Given the description of an element on the screen output the (x, y) to click on. 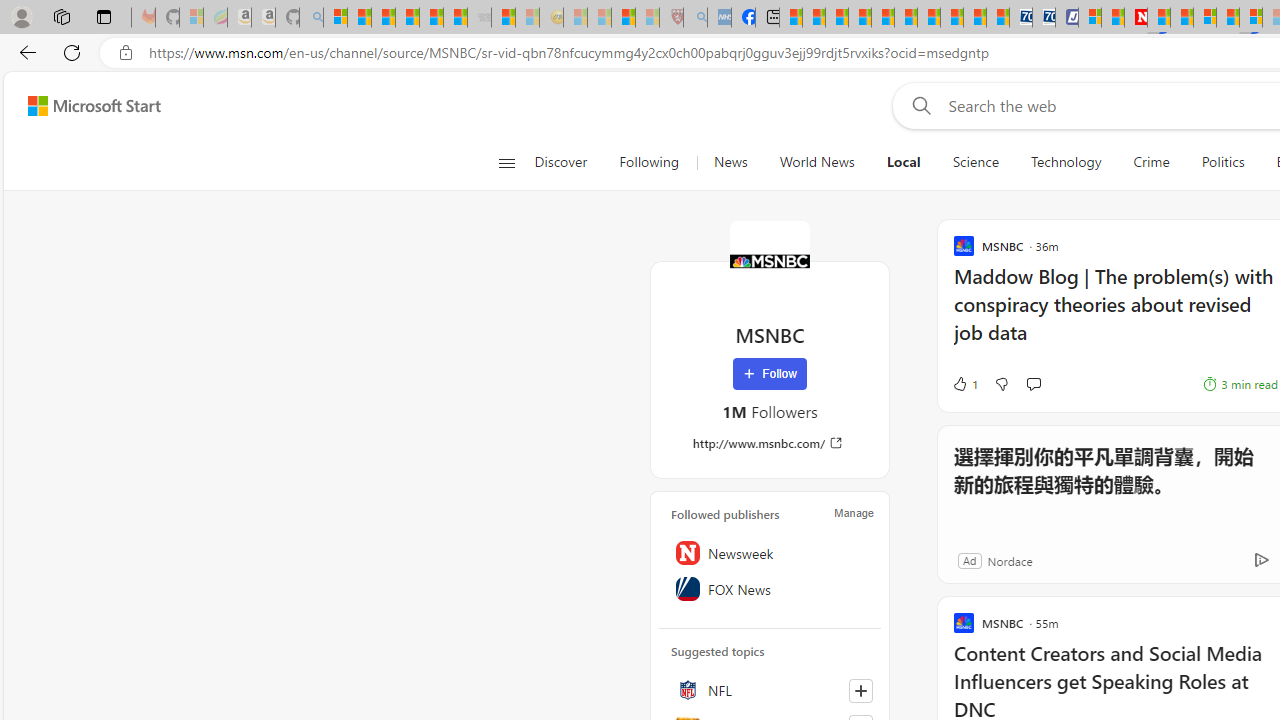
Manage (854, 512)
